Given the description of an element on the screen output the (x, y) to click on. 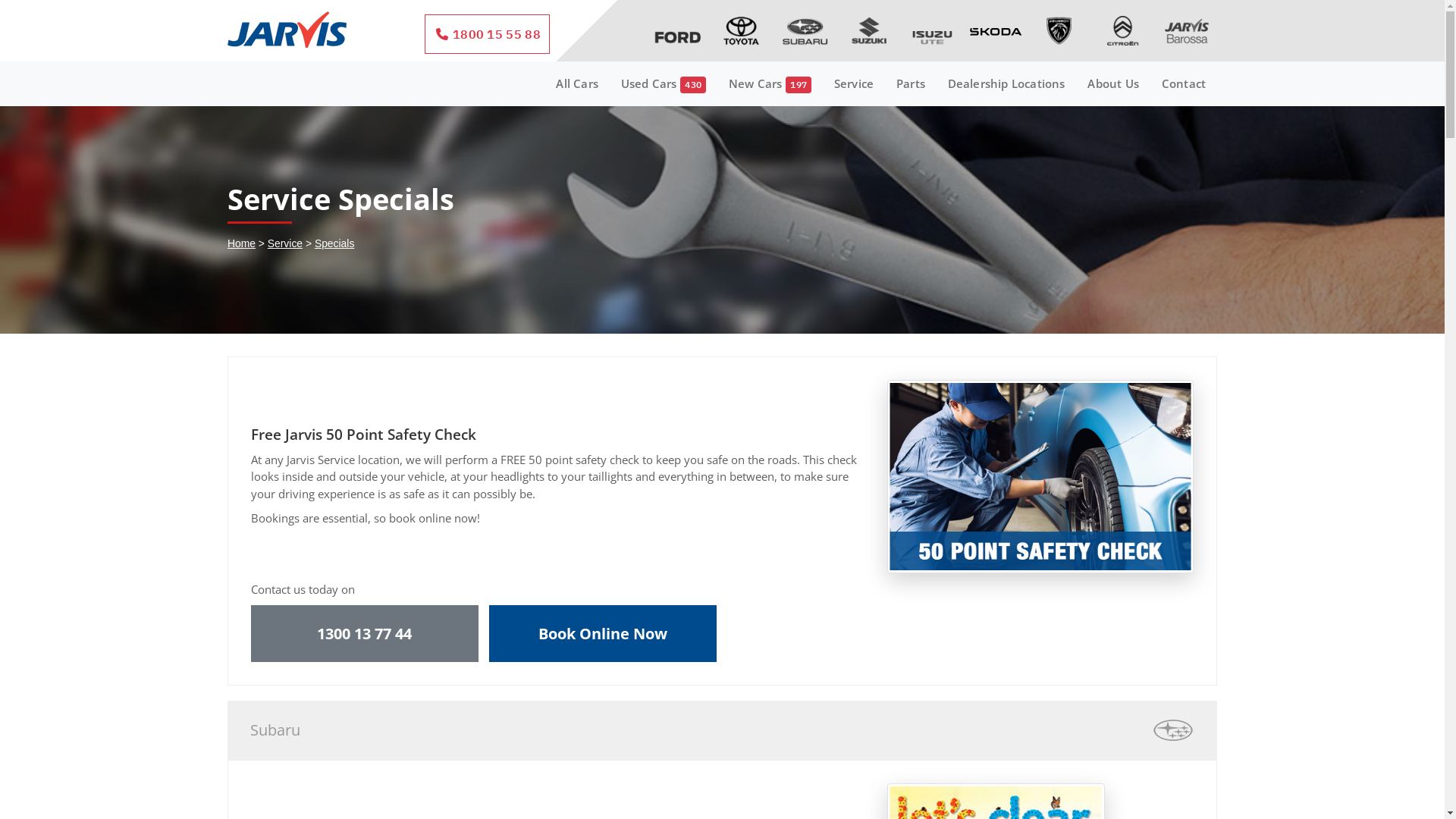
Home Element type: text (241, 243)
Jarvis Subaru Element type: hover (804, 28)
Parts Element type: text (910, 83)
Free Jarvis 50 Point Safety Check Element type: hover (1040, 476)
Jarvis Citroen Element type: hover (1122, 28)
Jarvis Toyota Element type: hover (741, 28)
Service Element type: text (284, 243)
All Cars Element type: text (576, 83)
Jarvis Element type: hover (287, 32)
Jarvis Isuzu UTE Element type: hover (931, 28)
Jarvis Peugeot Element type: hover (1058, 28)
Jarvis Skoda Element type: hover (995, 28)
Service Element type: text (853, 83)
Contact Element type: text (1183, 83)
Jarvis Suzuki Element type: hover (868, 28)
Jarvis Ford Element type: hover (677, 28)
Specials Element type: text (334, 243)
New Cars197 Element type: text (769, 83)
Dealership Locations Element type: text (1006, 83)
About Us Element type: text (1113, 83)
1300 13 77 44 Element type: text (364, 633)
Book Online Now Element type: text (602, 633)
1800 15 55 88 Element type: text (486, 33)
Used Cars430 Element type: text (663, 83)
Jarvis Barossa Element type: hover (1186, 28)
